Given the description of an element on the screen output the (x, y) to click on. 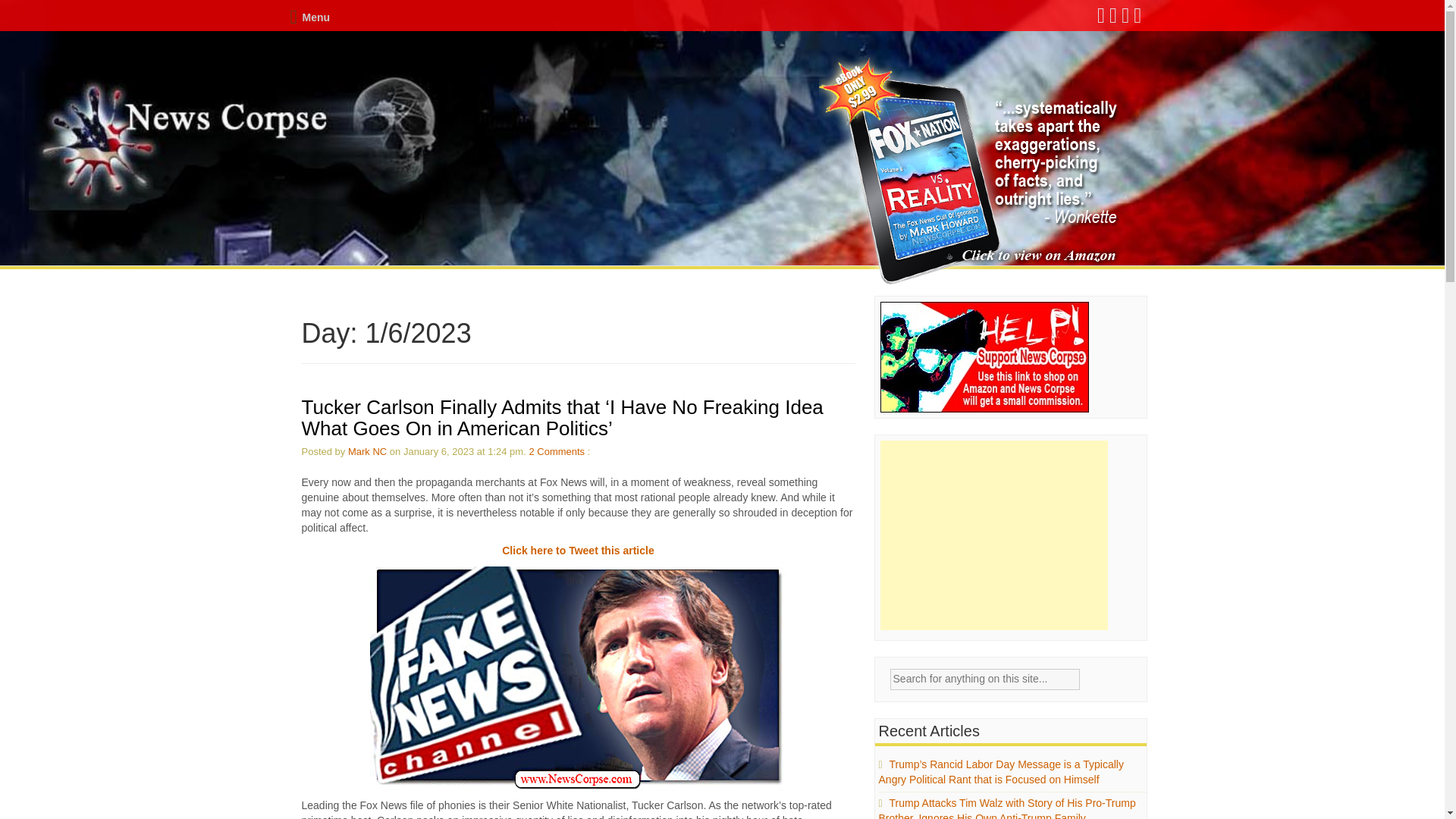
Mark NC (367, 451)
Menu (309, 17)
Click here to Tweet this article (577, 550)
Posts by Mark NC (367, 451)
Advertisement (994, 534)
Comments (561, 451)
Fox Nation vs. Reality (971, 170)
